Given the description of an element on the screen output the (x, y) to click on. 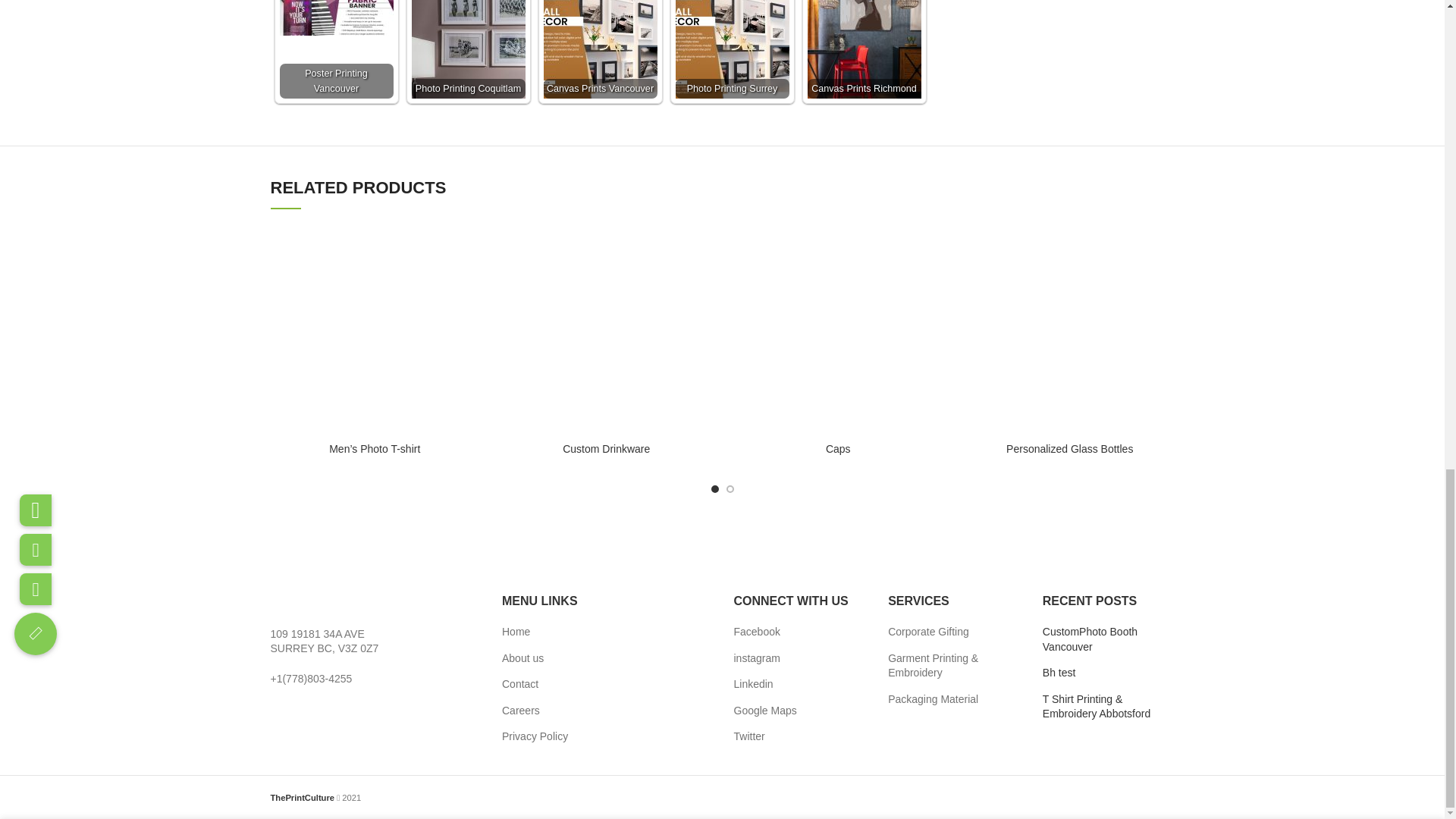
Canvas Prints Vancouver (599, 49)
Canvas Prints Richmond (863, 49)
Photo Printing Coquitlam (467, 49)
Poster Printing Vancouver (336, 18)
Photo Printing Surrey (732, 49)
